Given the description of an element on the screen output the (x, y) to click on. 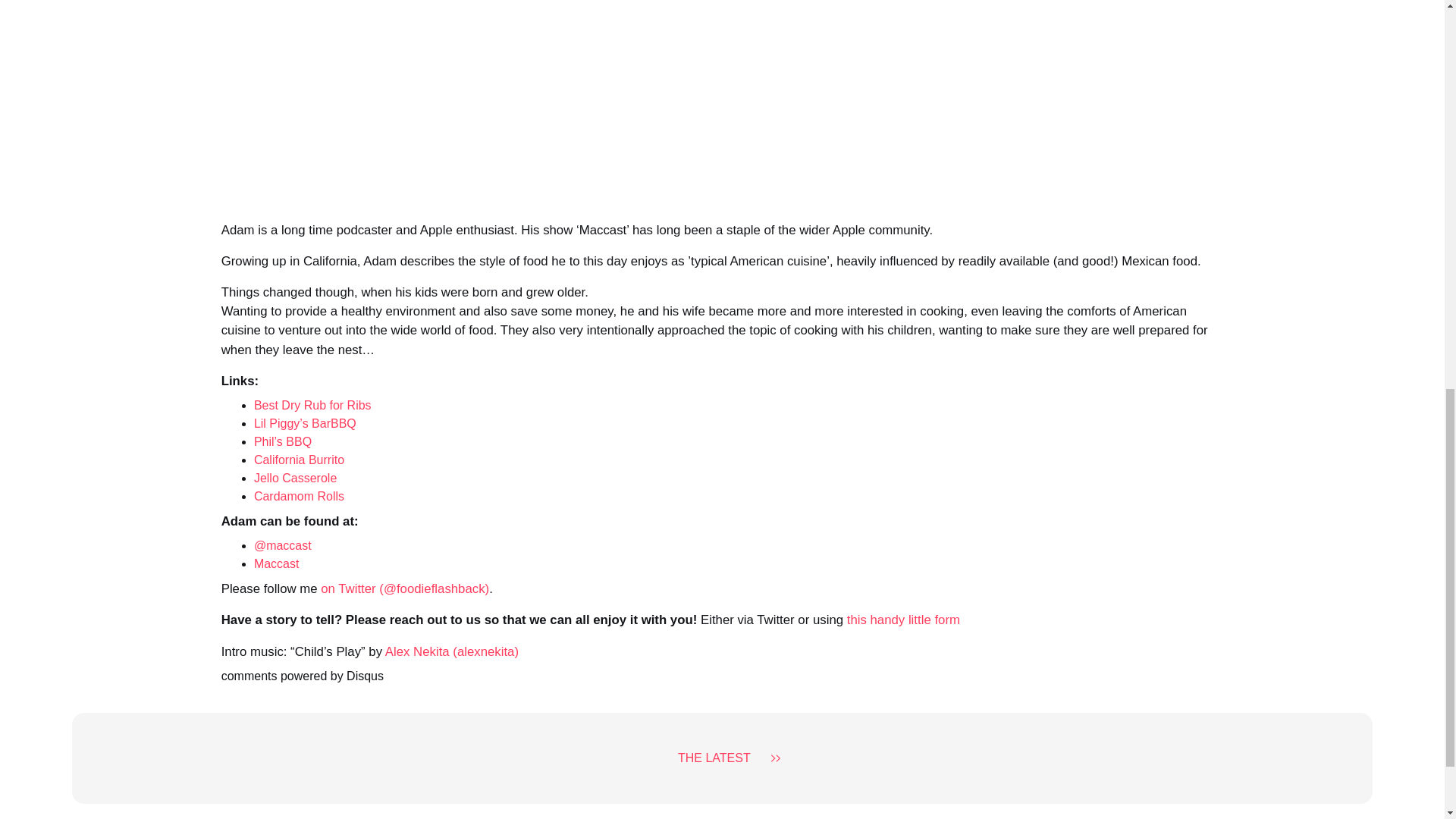
HOME - Californiaburrito (298, 459)
Phil's BBQ (282, 440)
Strawberry Jello Casserole (294, 477)
comments powered by Disqus (302, 675)
Lil Piggy's BarBBQ (304, 422)
California Burrito (298, 459)
Best Dry Rub for Ribs (312, 404)
Jello Casserole (294, 477)
this handy little form (903, 619)
Cardamom Rolls (298, 495)
Best Dry Rub for Ribs (312, 404)
Maccast (276, 563)
